Given the description of an element on the screen output the (x, y) to click on. 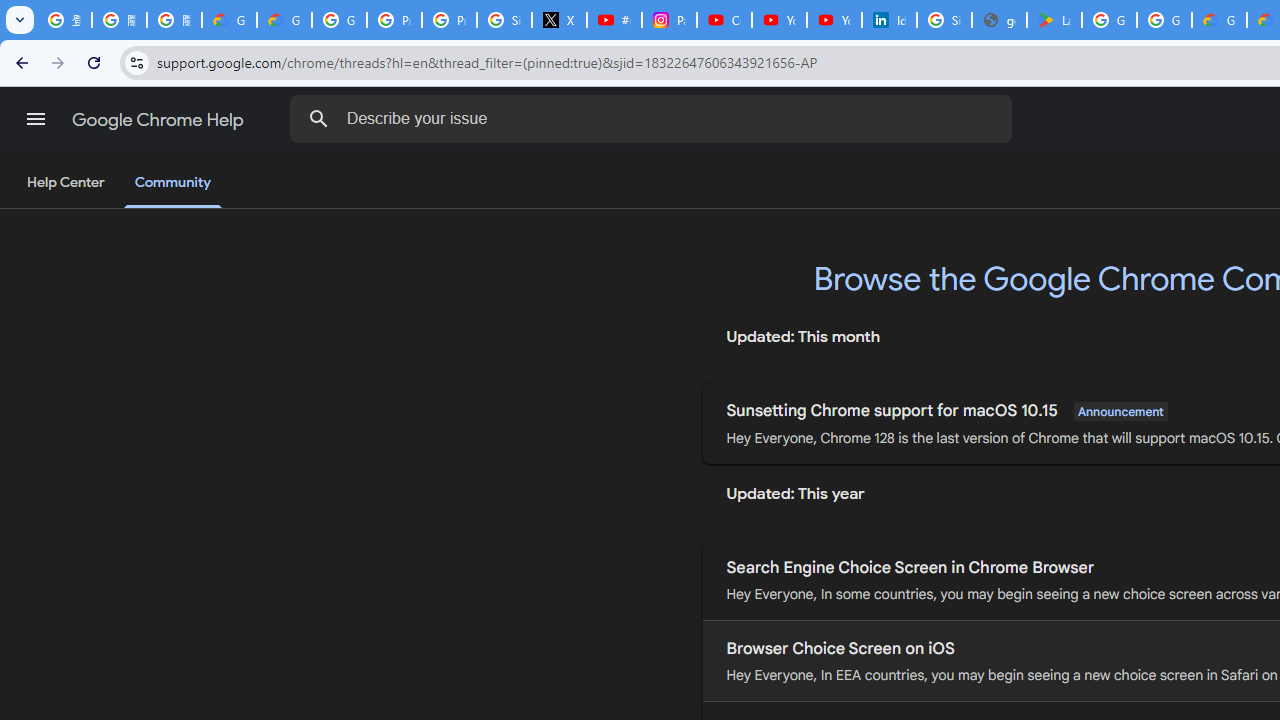
Google Cloud Privacy Notice (284, 20)
YouTube Culture & Trends - YouTube Top 10, 2021 (833, 20)
Describe your issue (653, 118)
Sign in - Google Accounts (943, 20)
#nbabasketballhighlights - YouTube (614, 20)
Sign in - Google Accounts (504, 20)
Main menu (35, 119)
google_privacy_policy_en.pdf (998, 20)
Privacy Help Center - Policies Help (394, 20)
Last Shelter: Survival - Apps on Google Play (1053, 20)
